Given the description of an element on the screen output the (x, y) to click on. 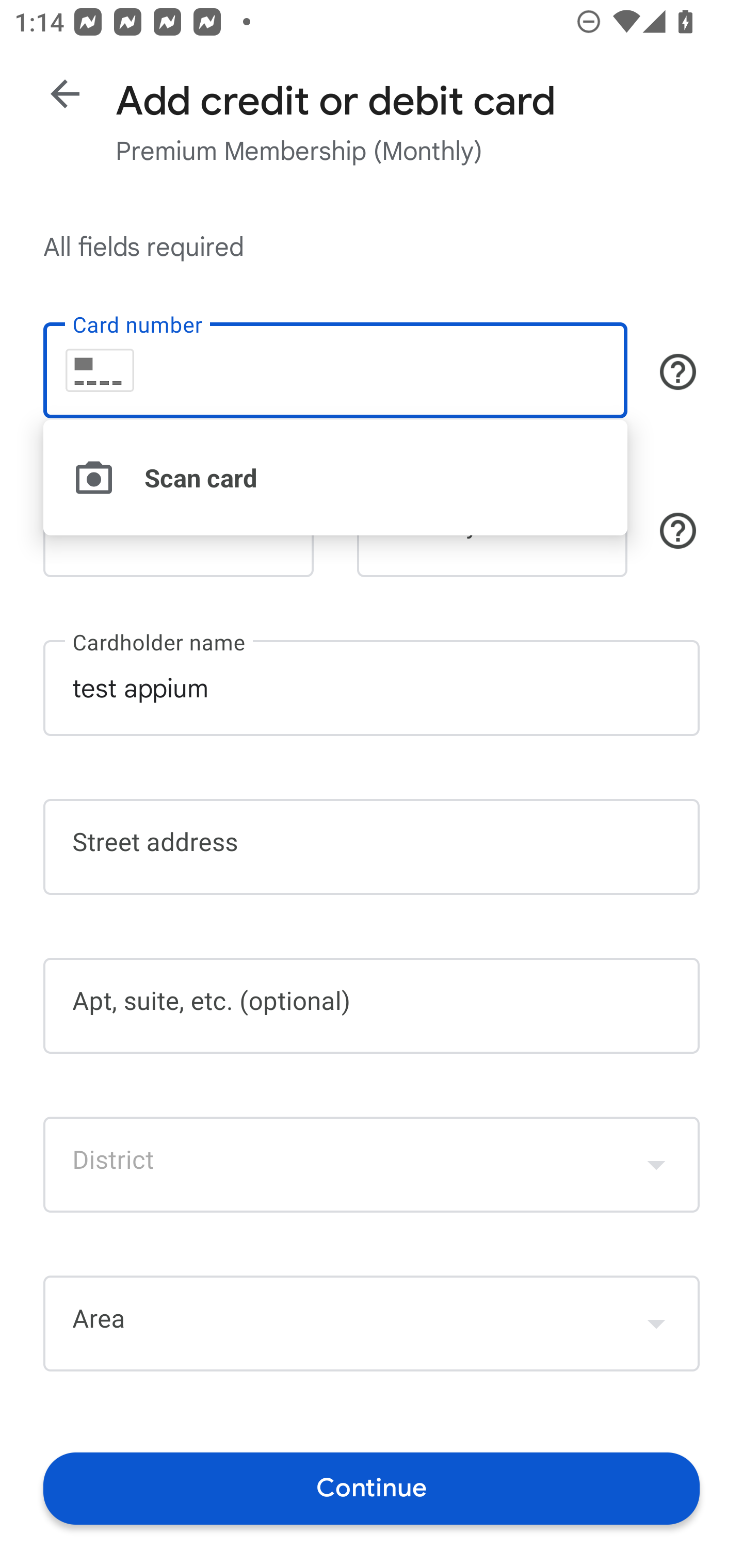
Back (64, 93)
Card number (335, 370)
Button, shows cards that are accepted for payment (677, 371)
Security code help (677, 530)
test appium (371, 687)
Street address (371, 847)
Apt, suite, etc. (optional) (371, 1005)
District (371, 1164)
Show dropdown menu (655, 1164)
Area (371, 1323)
Show dropdown menu (655, 1323)
Continue (371, 1487)
